Given the description of an element on the screen output the (x, y) to click on. 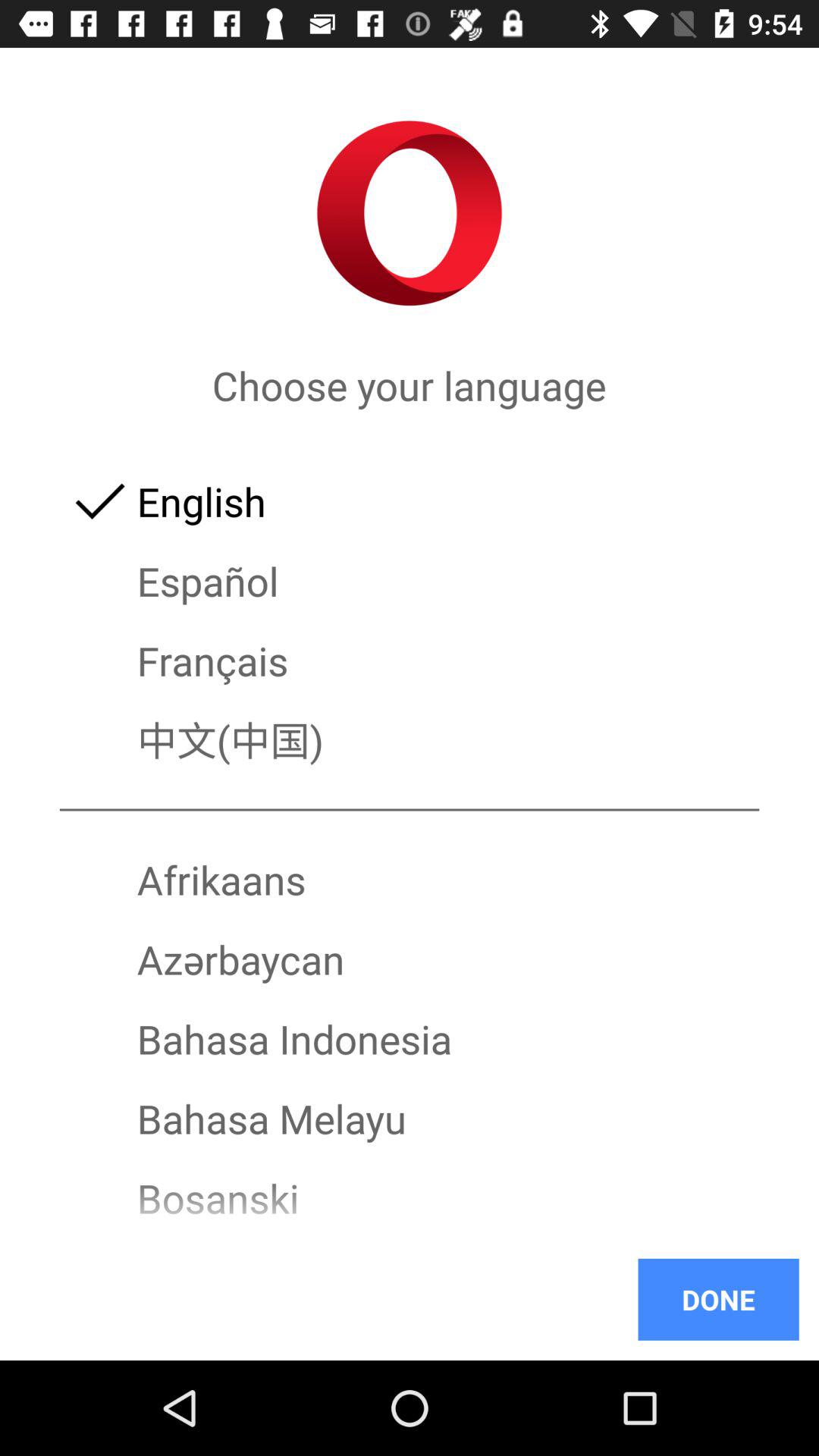
select bosanski icon (409, 1198)
